Given the description of an element on the screen output the (x, y) to click on. 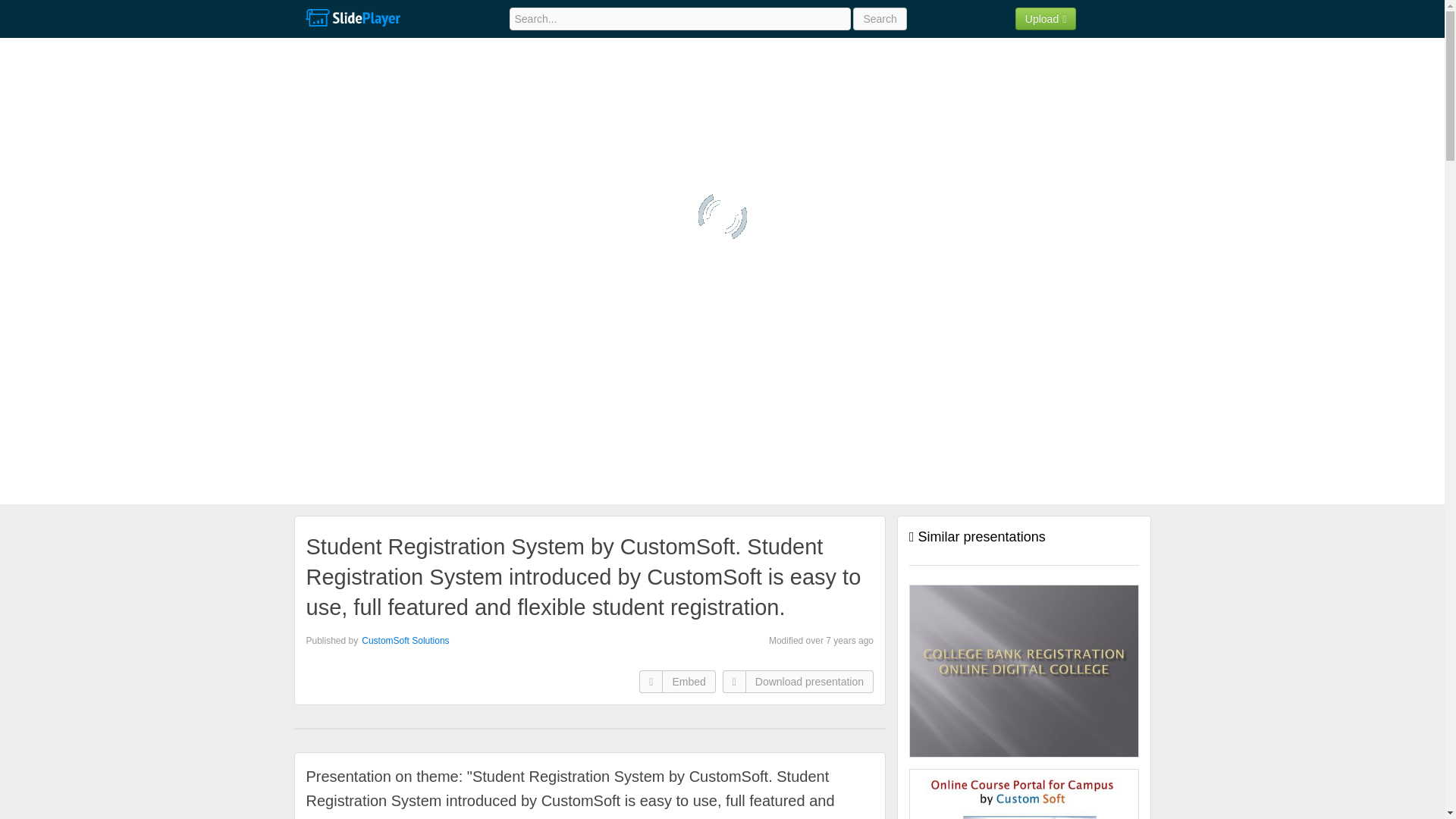
Upload (1045, 18)
Presentation is loading. Please wait. (721, 216)
SlidePlayer (352, 18)
Search (879, 18)
CustomSoft Solutions (404, 640)
